Given the description of an element on the screen output the (x, y) to click on. 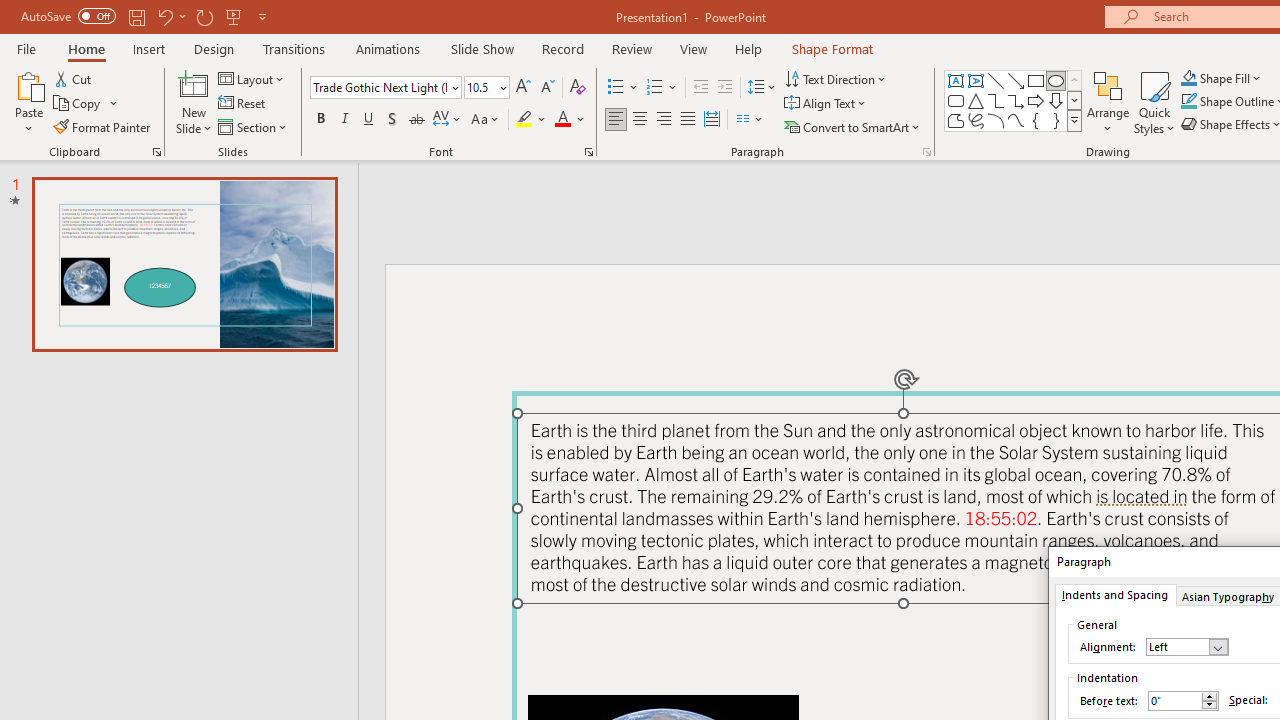
Before text (1174, 700)
